Given the description of an element on the screen output the (x, y) to click on. 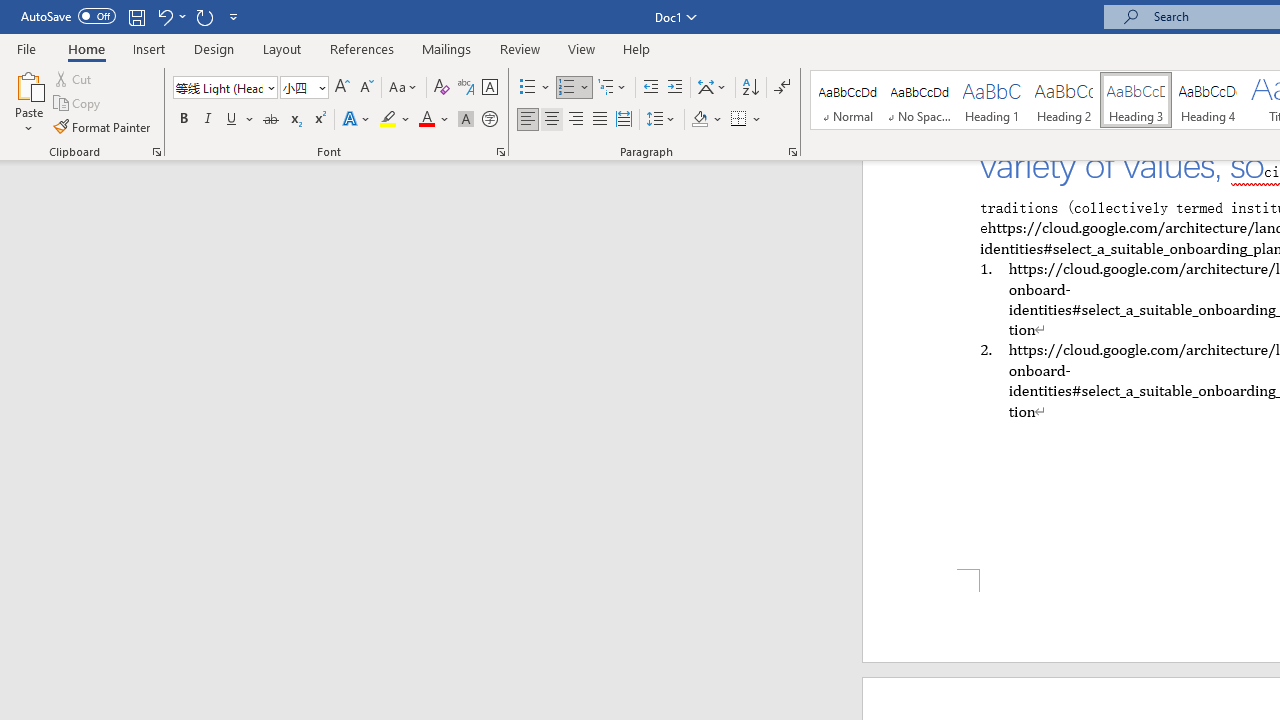
Undo Paragraph Alignment (170, 15)
